Given the description of an element on the screen output the (x, y) to click on. 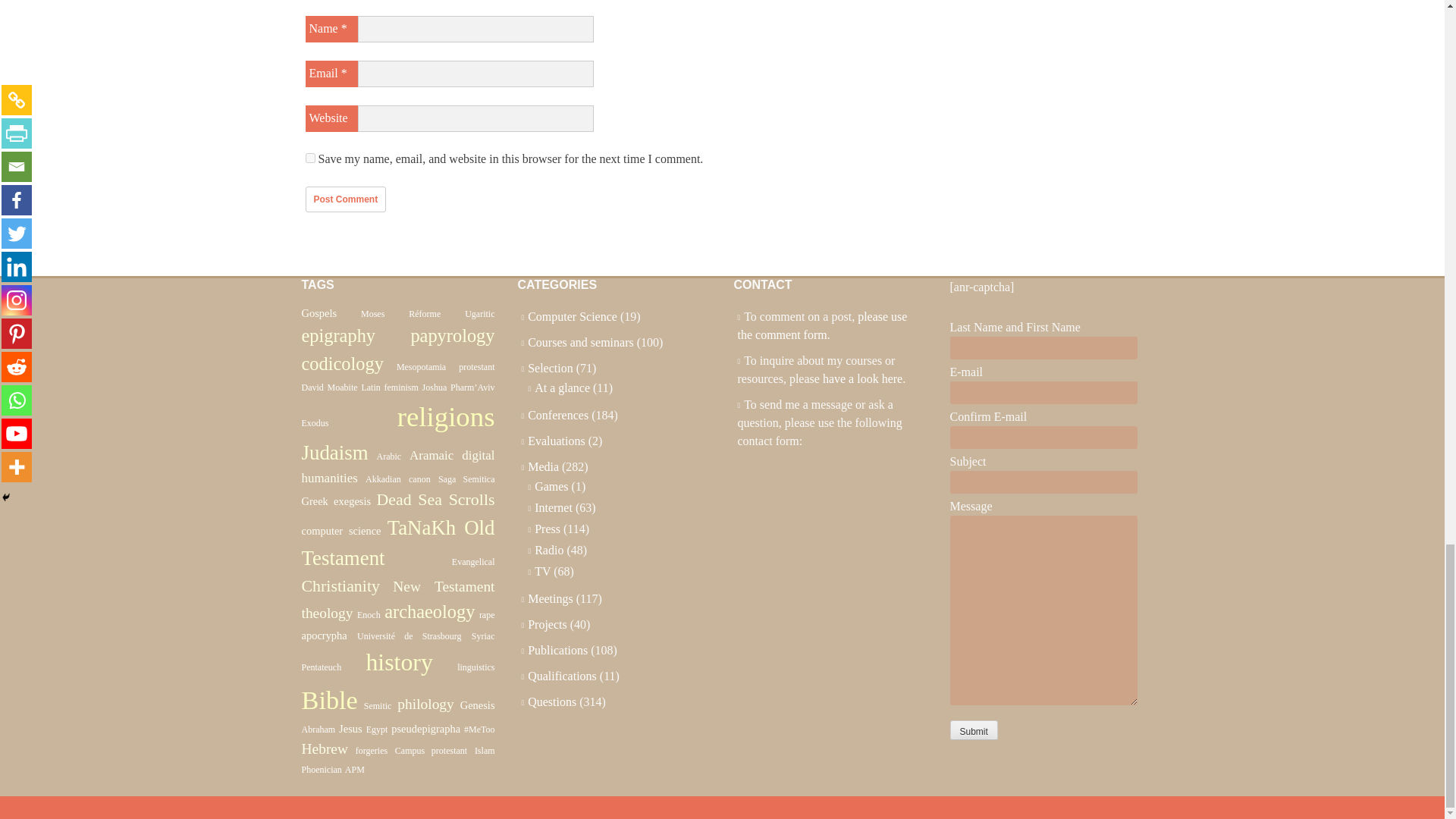
yes (309, 157)
Submit (973, 730)
Post Comment (344, 199)
